Given the description of an element on the screen output the (x, y) to click on. 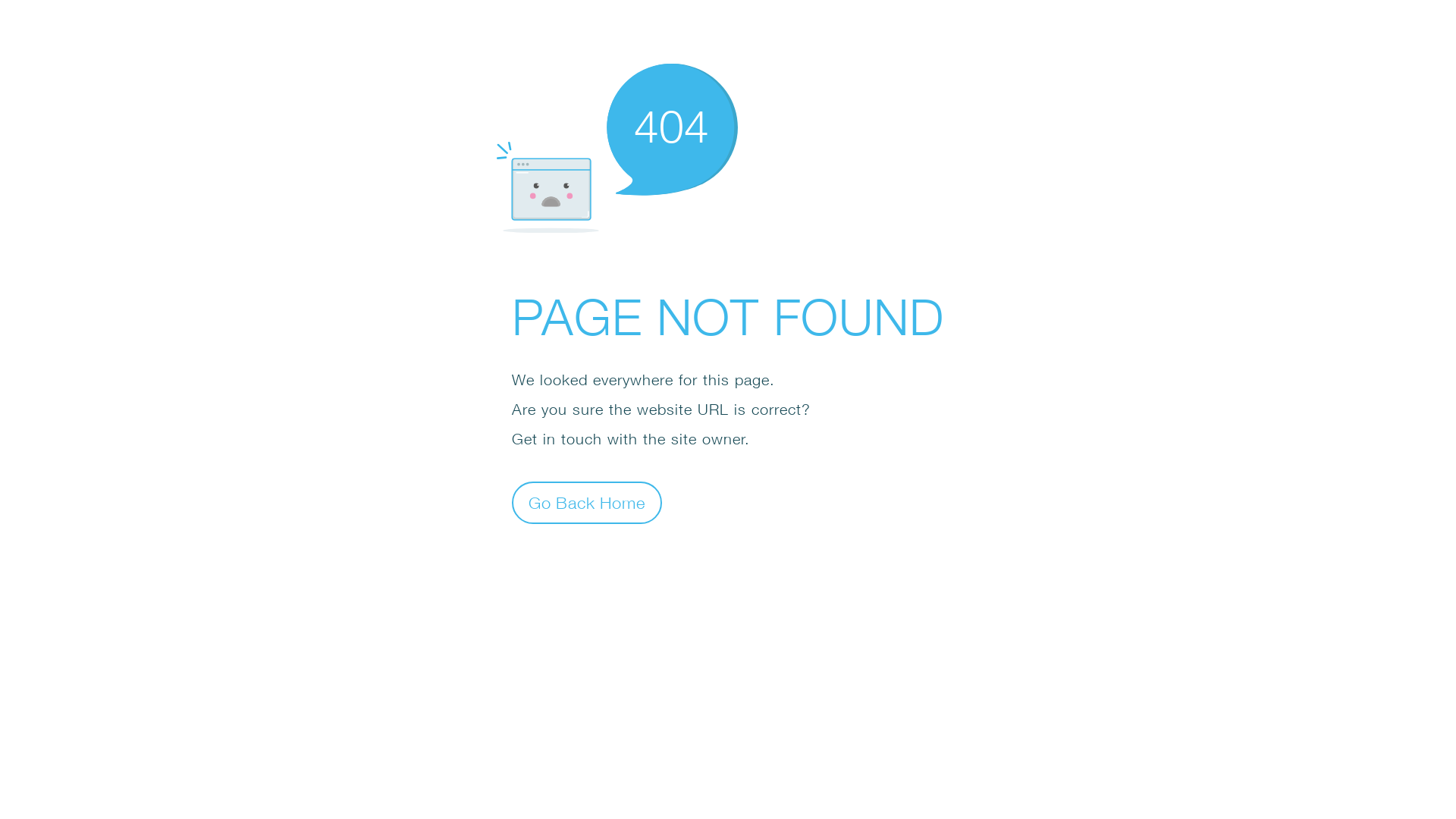
Go Back Home Element type: text (586, 502)
